Given the description of an element on the screen output the (x, y) to click on. 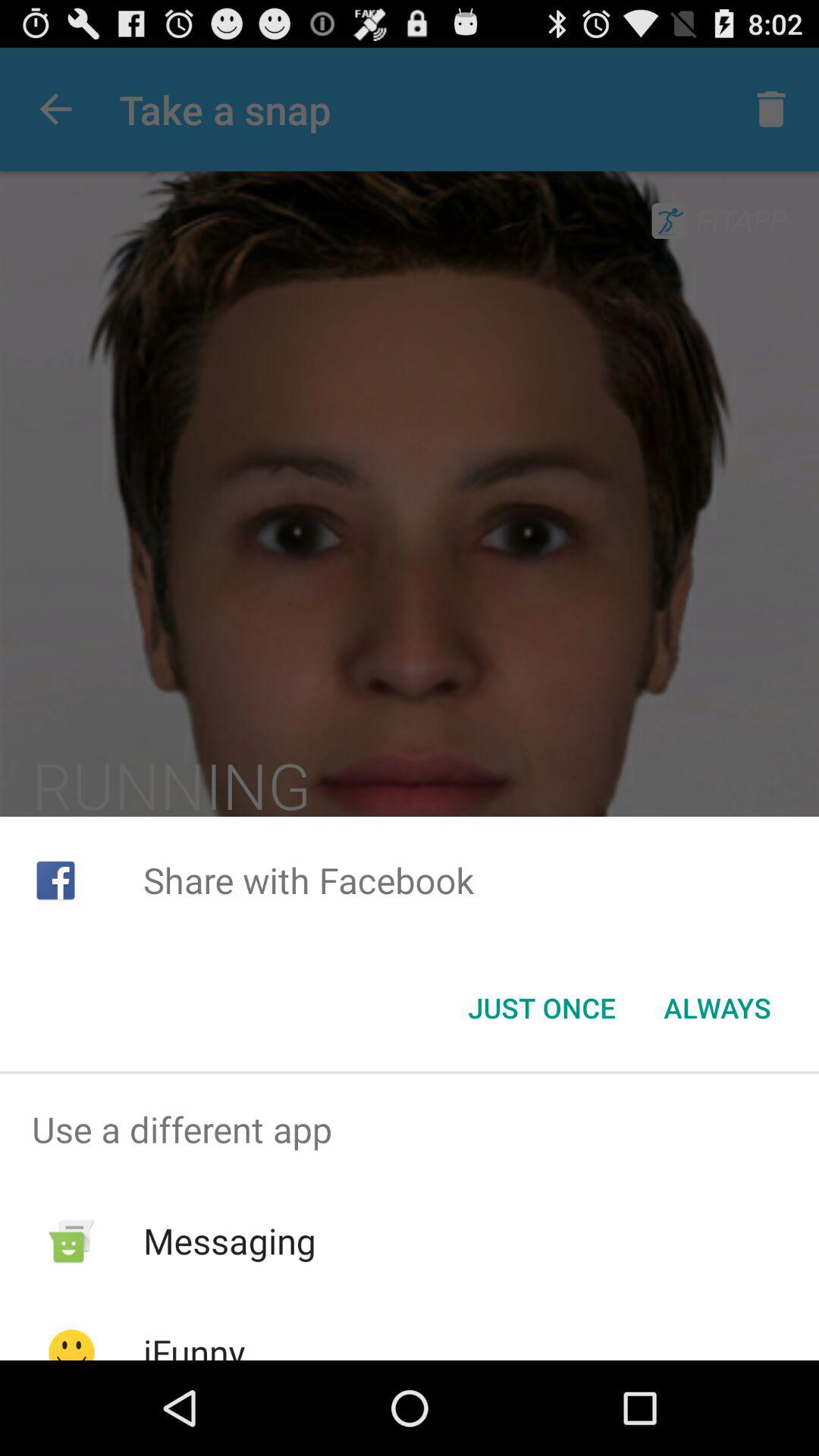
turn off icon next to just once icon (717, 1007)
